Given the description of an element on the screen output the (x, y) to click on. 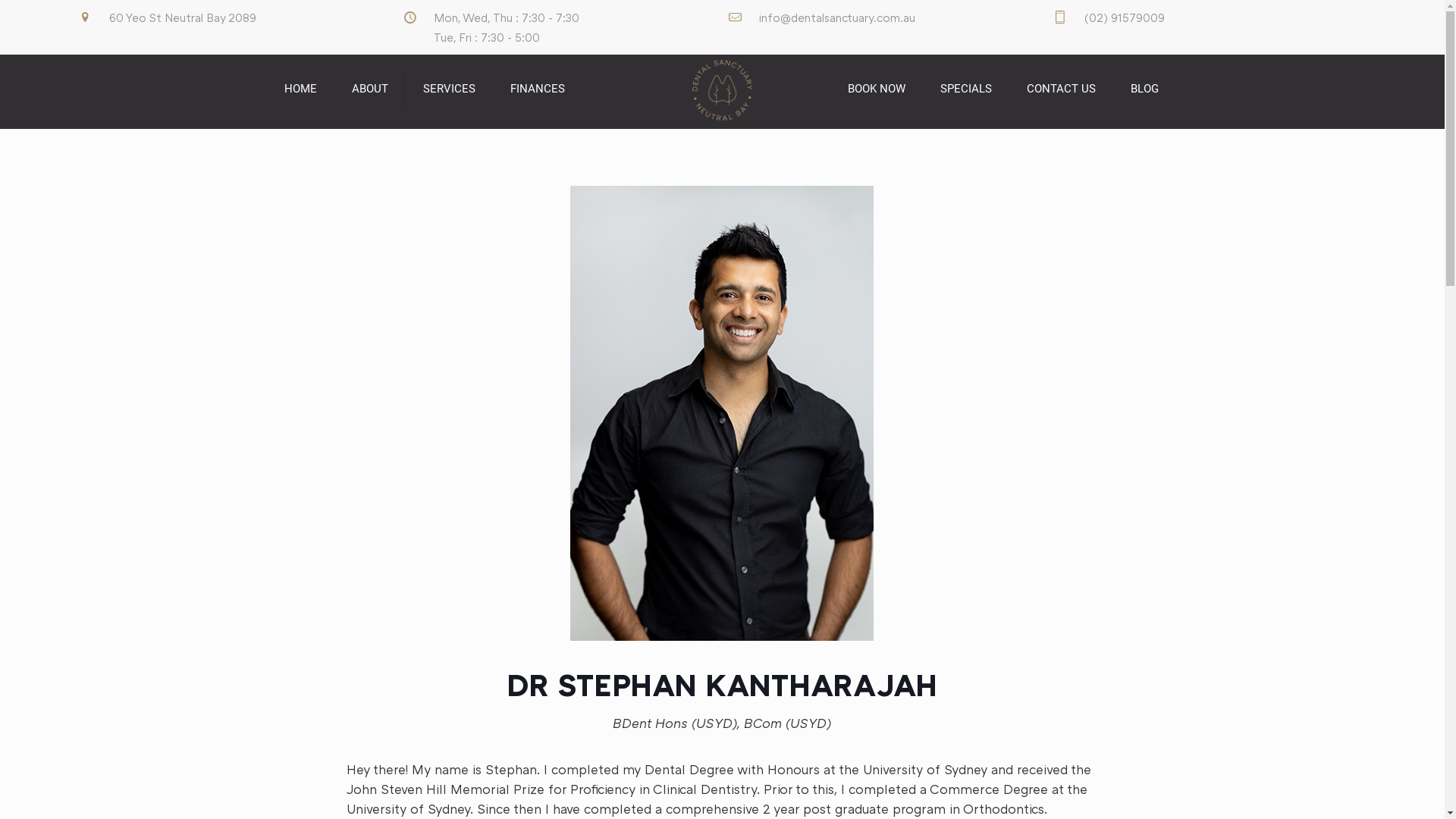
SPECIALS Element type: text (966, 88)
(02) 91579009 Element type: text (1124, 17)
SERVICES Element type: text (449, 88)
HOME Element type: text (300, 88)
ABOUT Element type: text (370, 88)
CONTACT US Element type: text (1061, 88)
FINANCES Element type: text (536, 88)
BOOK NOW Element type: text (876, 88)
info@dentalsanctuary.com.au Element type: text (837, 17)
BLOG Element type: text (1144, 88)
Dental Sanctuary Element type: hover (722, 88)
stephen Element type: hover (721, 412)
